Given the description of an element on the screen output the (x, y) to click on. 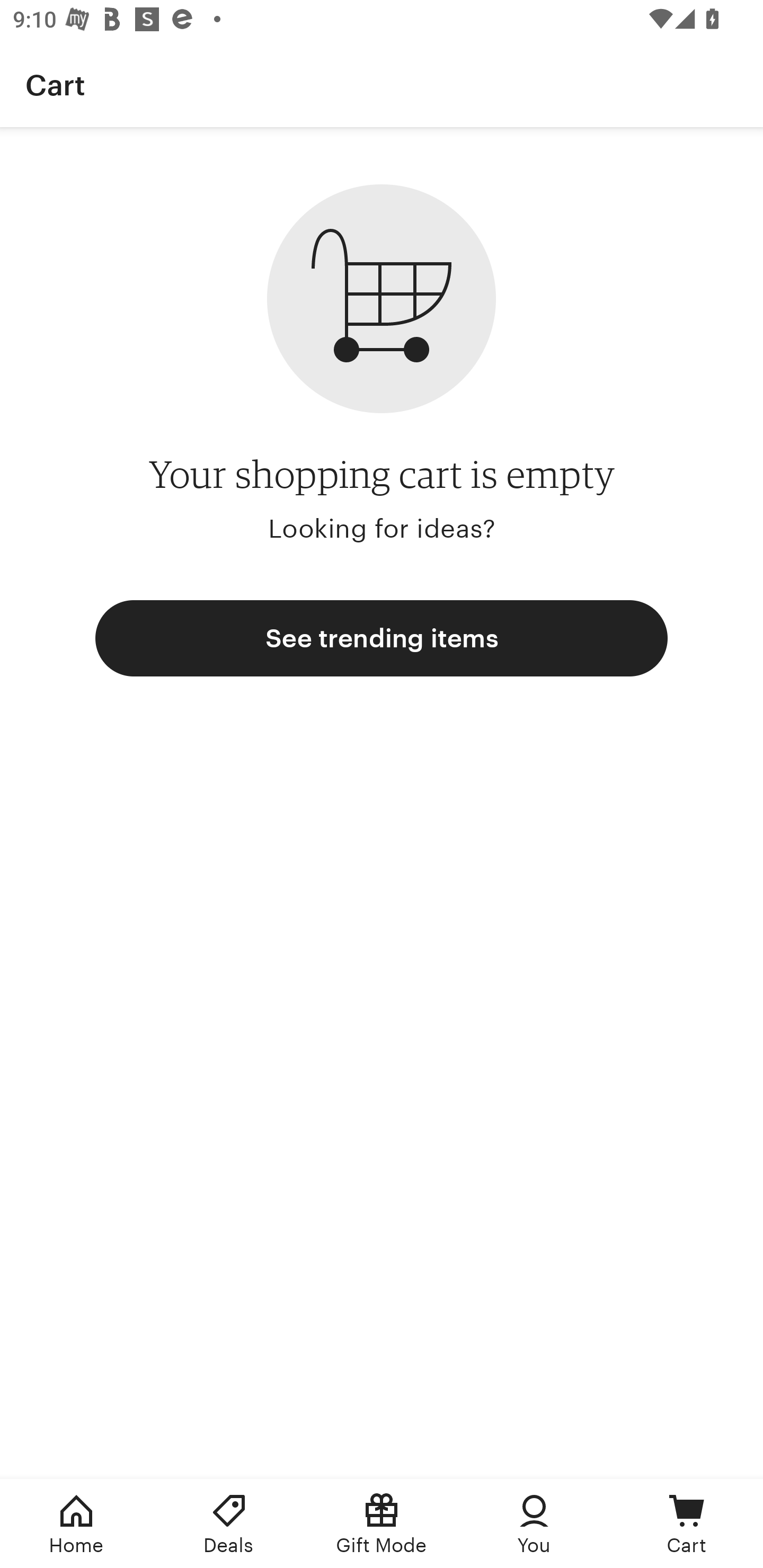
See trending items (381, 637)
Home (76, 1523)
Deals (228, 1523)
Gift Mode (381, 1523)
You (533, 1523)
